Given the description of an element on the screen output the (x, y) to click on. 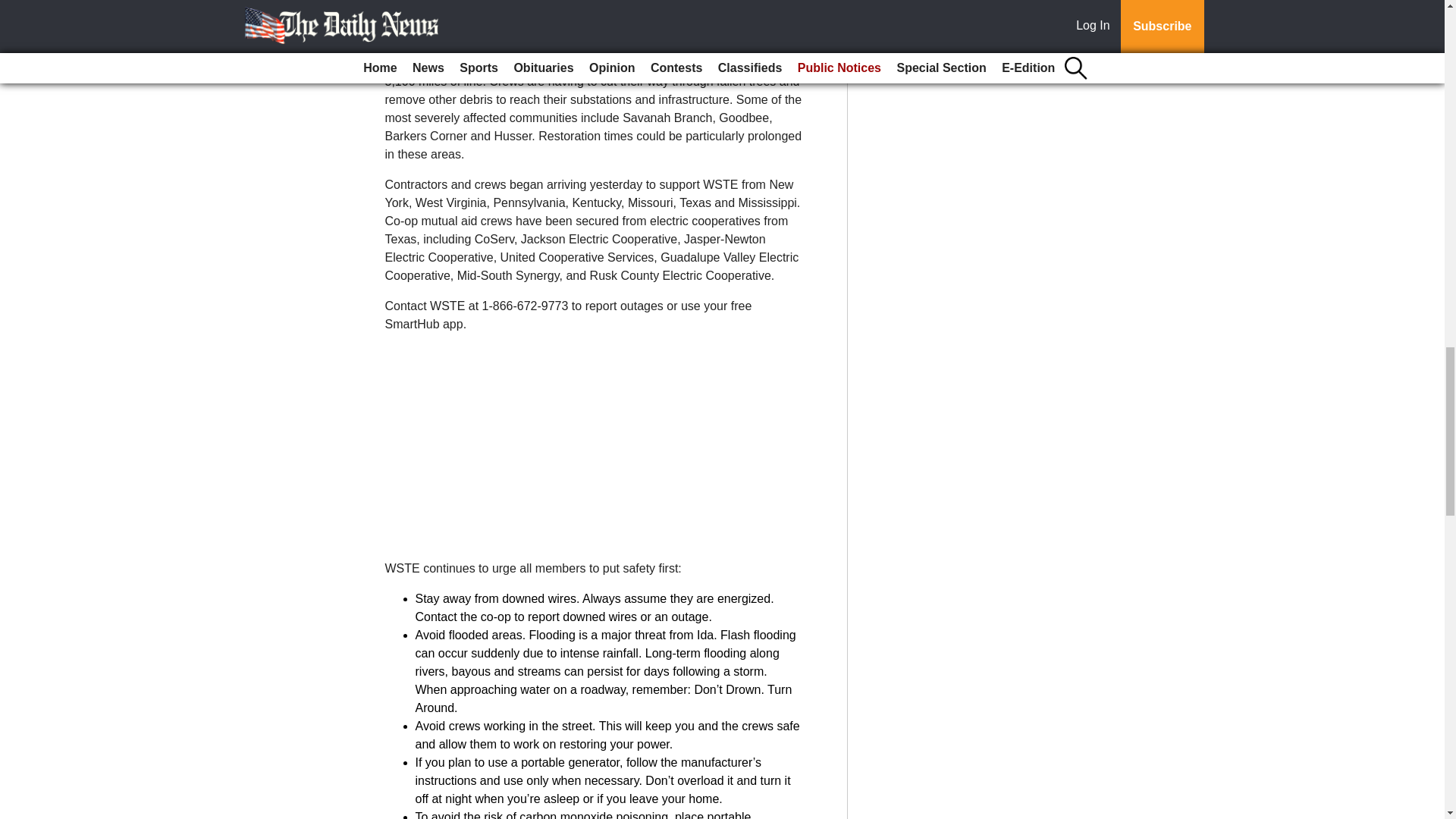
Subscribe (434, 2)
Subscribe (434, 2)
